Given the description of an element on the screen output the (x, y) to click on. 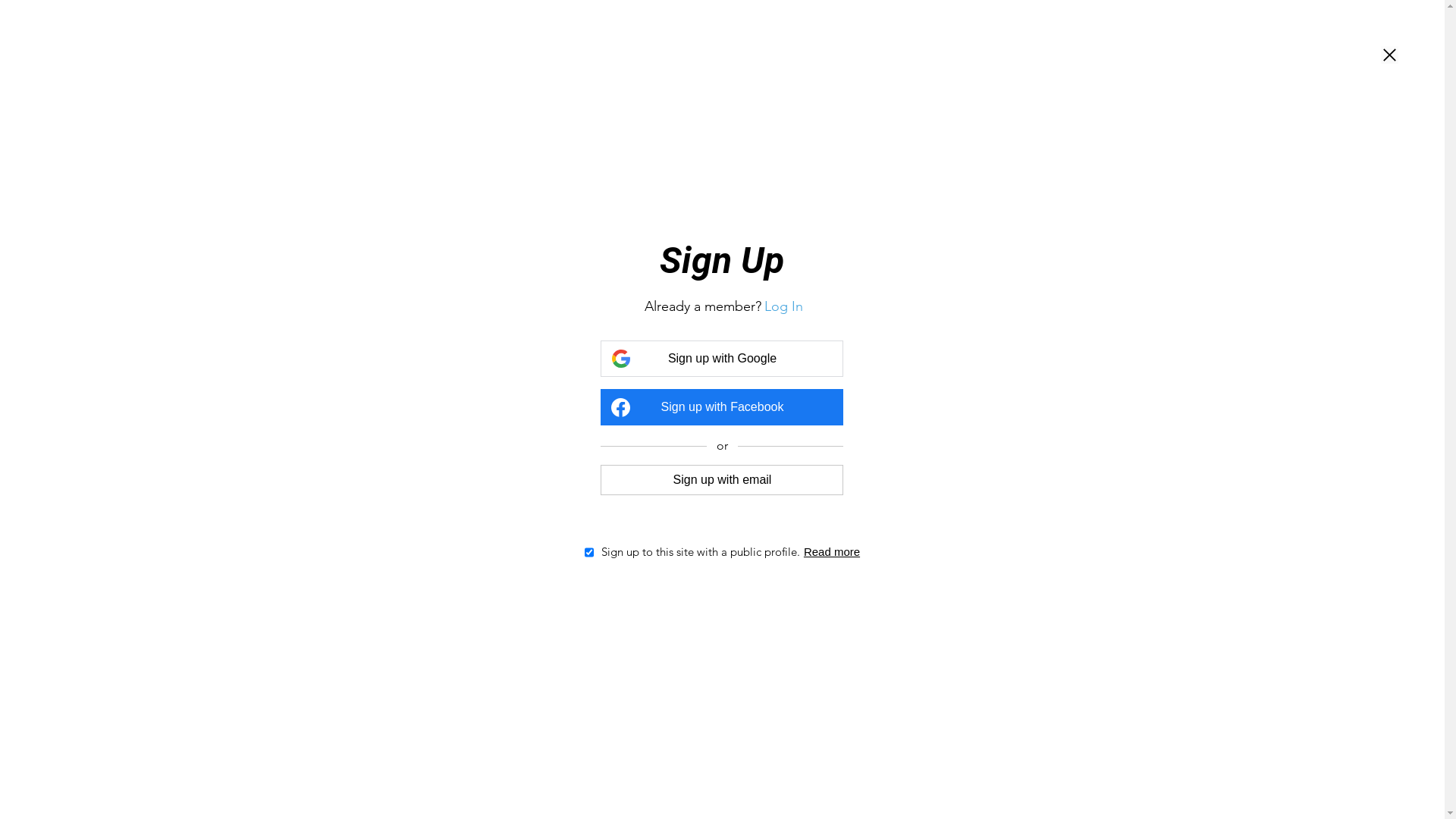
Sign up with Google Element type: text (721, 358)
Sign up with Facebook Element type: text (721, 407)
Read more Element type: text (831, 551)
Sign up with email Element type: text (721, 479)
Log In Element type: text (783, 306)
